Given the description of an element on the screen output the (x, y) to click on. 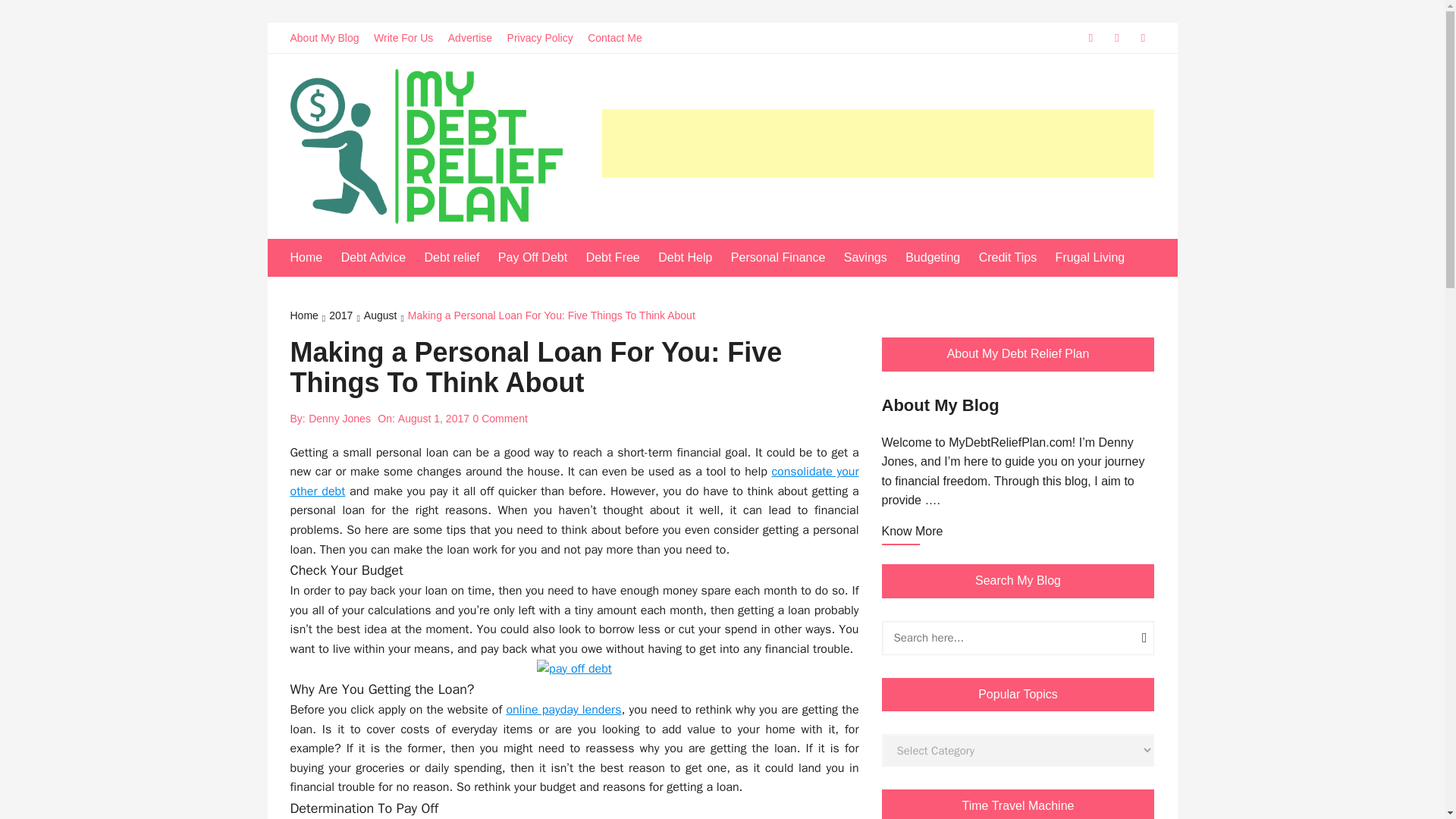
Debt relief (459, 257)
Debt Advice (380, 257)
Home (313, 257)
Home (309, 316)
Privacy Policy (545, 37)
Denny Jones (339, 418)
Budgeting (940, 257)
Contact Me (620, 37)
2017 (346, 316)
Savings (873, 257)
